Given the description of an element on the screen output the (x, y) to click on. 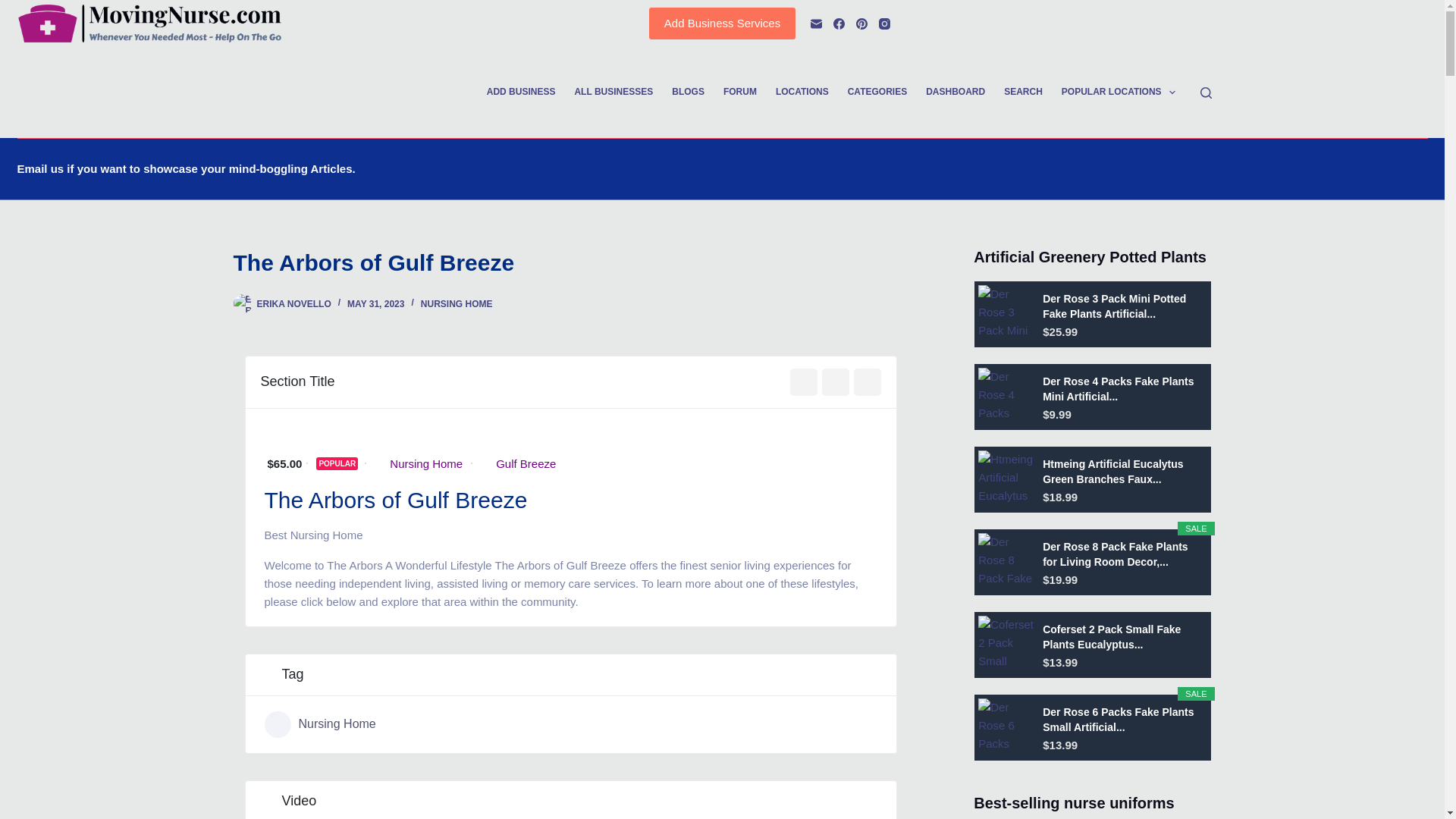
Posts by Erika Novello (293, 303)
POPULAR LOCATIONS (1118, 92)
Skip to content (15, 7)
The Arbors of Gulf Breeze (570, 262)
ALL BUSINESSES (613, 92)
ADD BUSINESS (520, 92)
Add Business Services (721, 23)
